Given the description of an element on the screen output the (x, y) to click on. 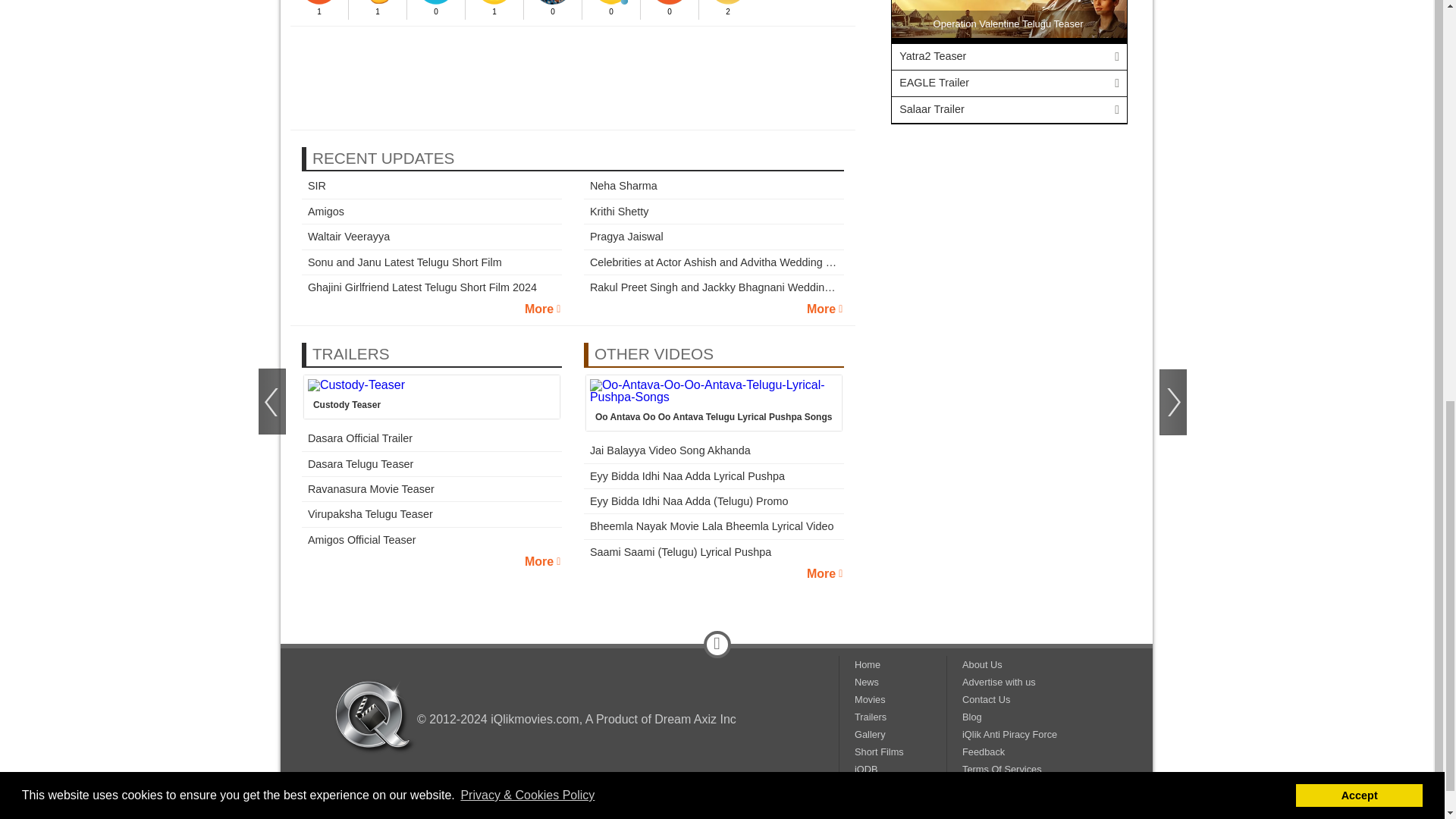
Logo - Home (374, 716)
